Given the description of an element on the screen output the (x, y) to click on. 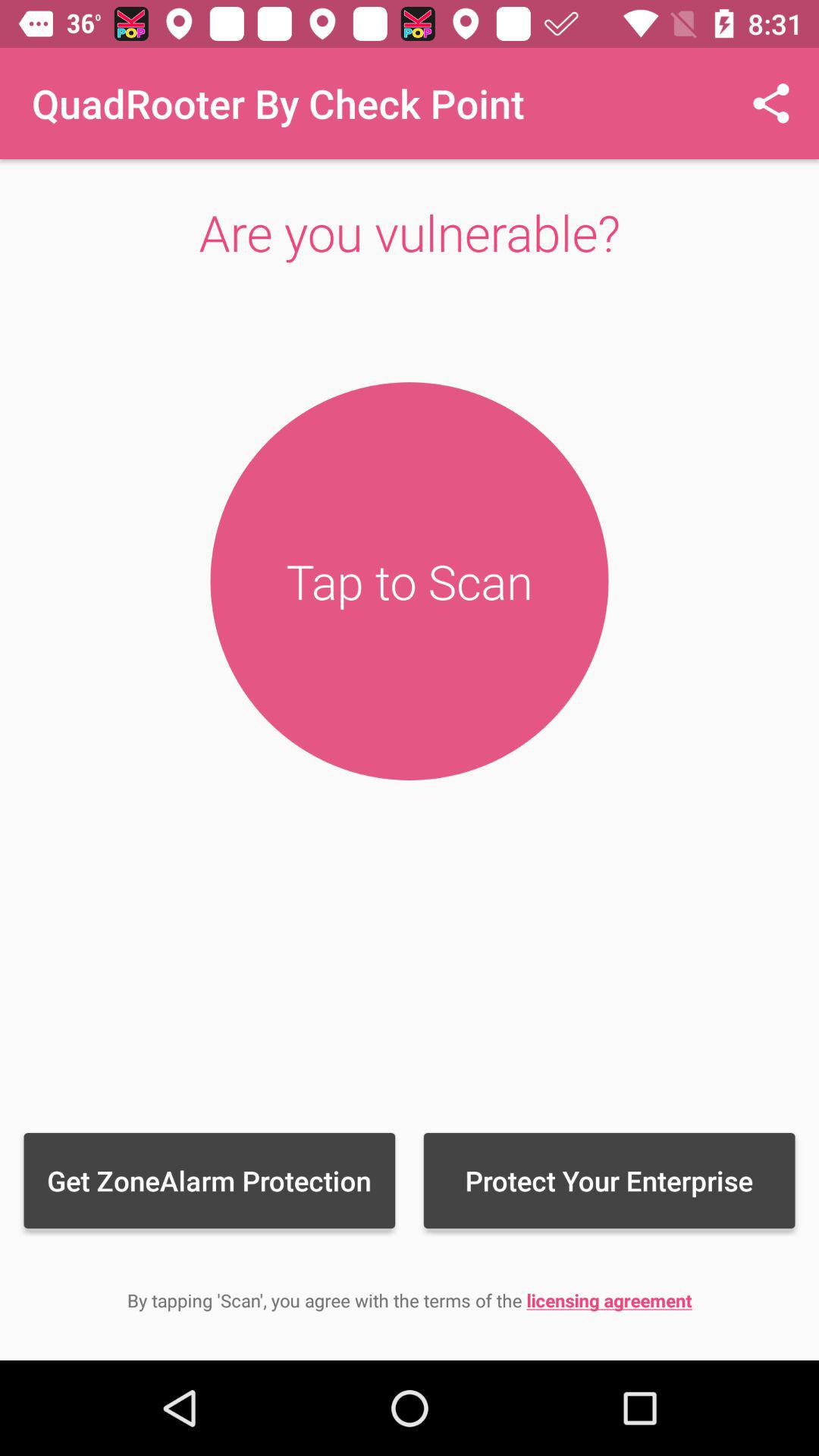
select 'tap to scan button (409, 581)
